Given the description of an element on the screen output the (x, y) to click on. 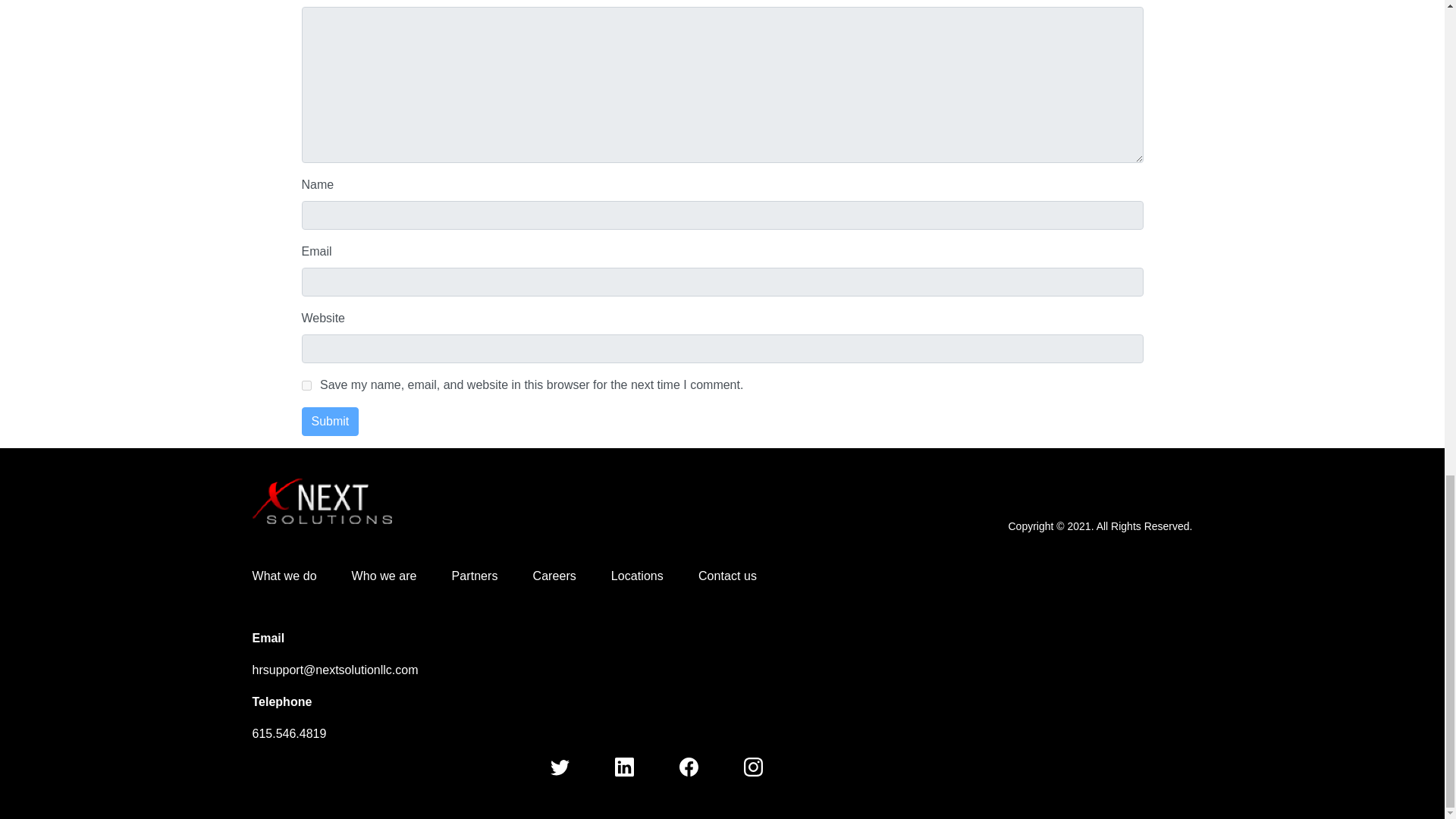
Who we are (401, 576)
Contact us (745, 576)
Careers (571, 576)
Partners (491, 576)
Submit (330, 421)
yes (306, 385)
Locations (654, 576)
Submit (330, 421)
What we do (300, 576)
